Given the description of an element on the screen output the (x, y) to click on. 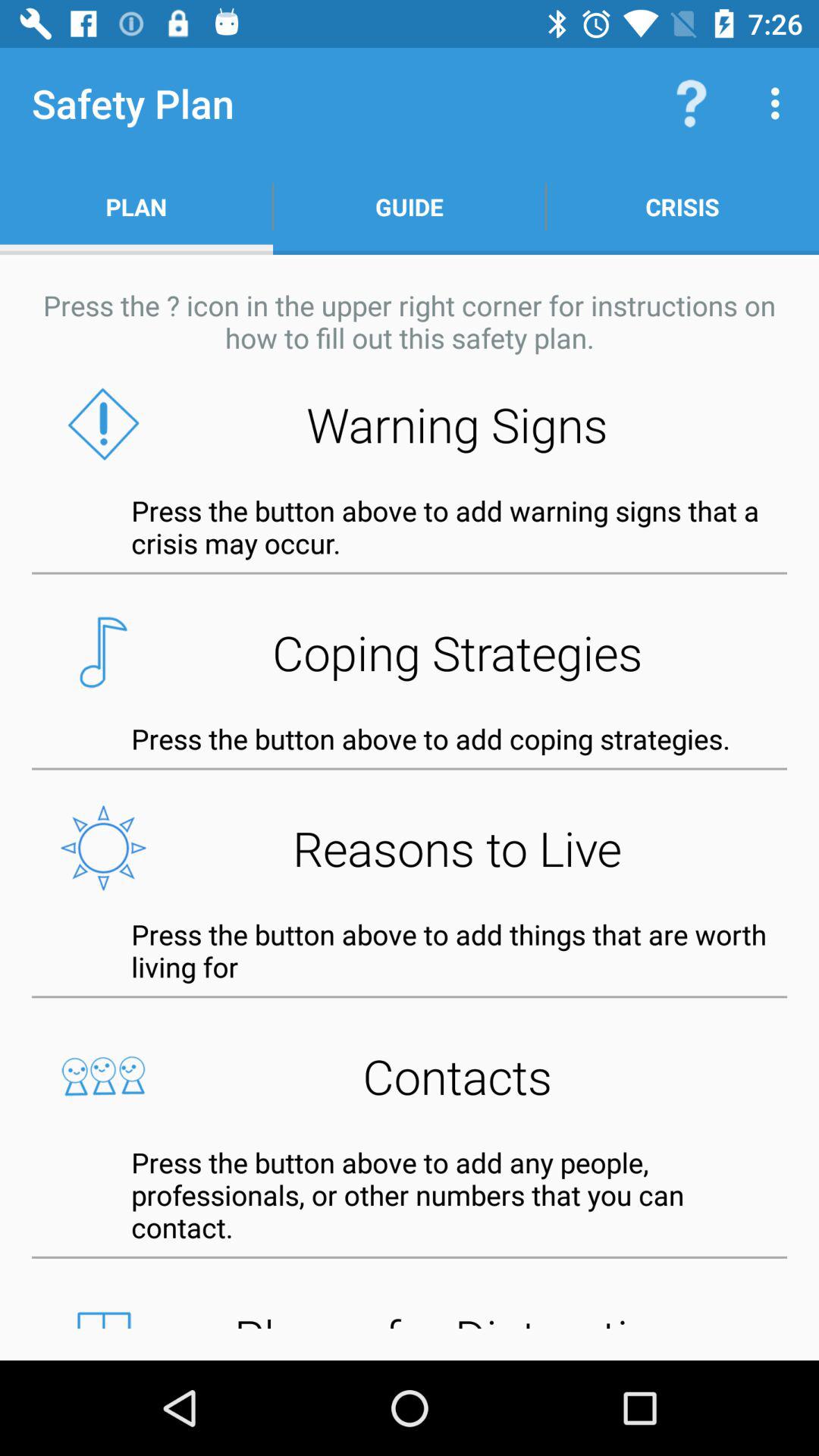
choose the app above the press the button icon (409, 1075)
